Given the description of an element on the screen output the (x, y) to click on. 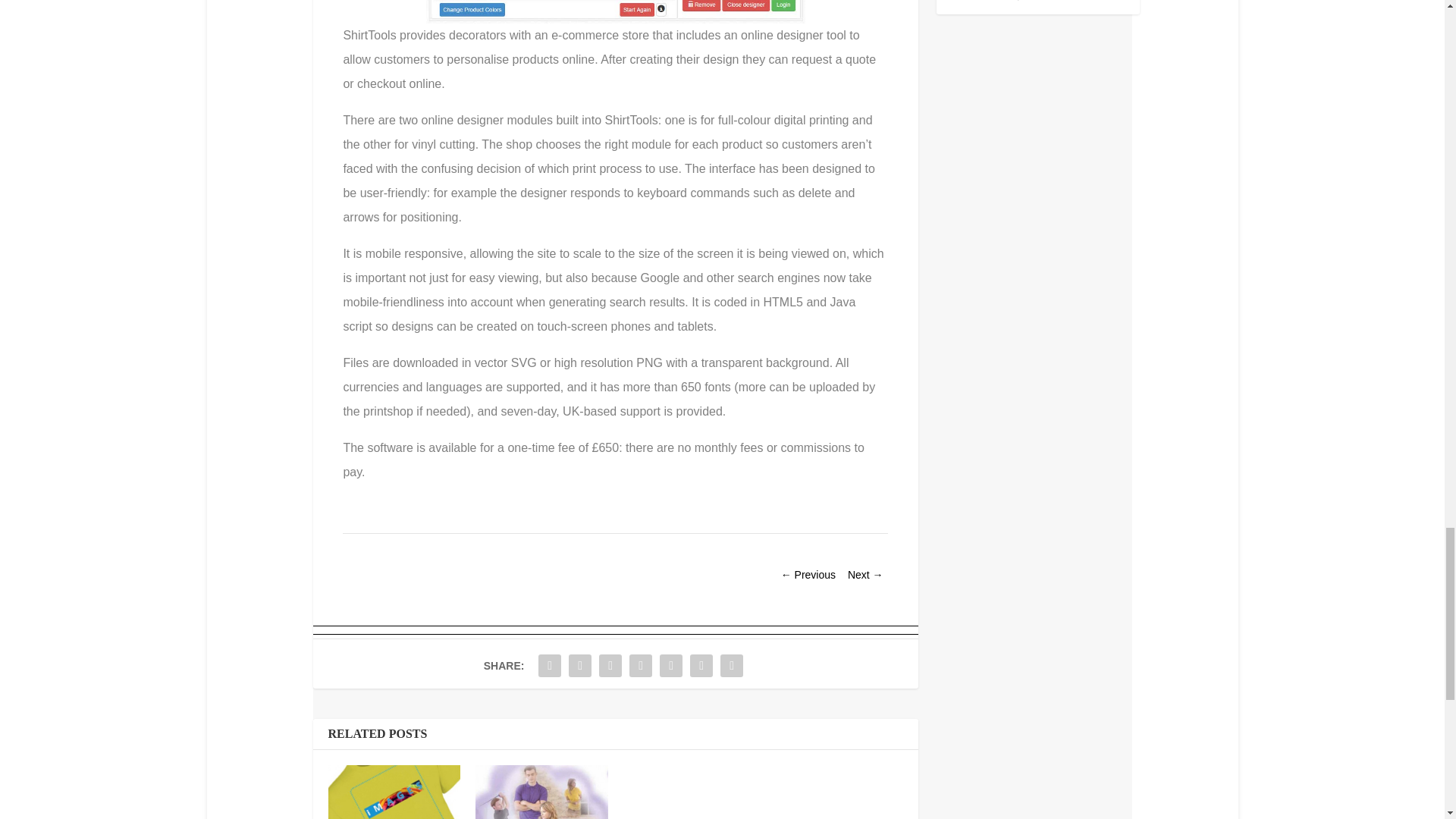
Share "Software Review: 2015 2" via Pinterest (641, 665)
Jun15P53c (615, 11)
Share "Software Review: 2015 2" via Facebook (549, 665)
Share "Software Review: 2015 2" via Email (700, 665)
Share "Software Review: 2015 2" via Twitter (579, 665)
Share "Software Review: 2015 2" via LinkedIn (670, 665)
